Given the description of an element on the screen output the (x, y) to click on. 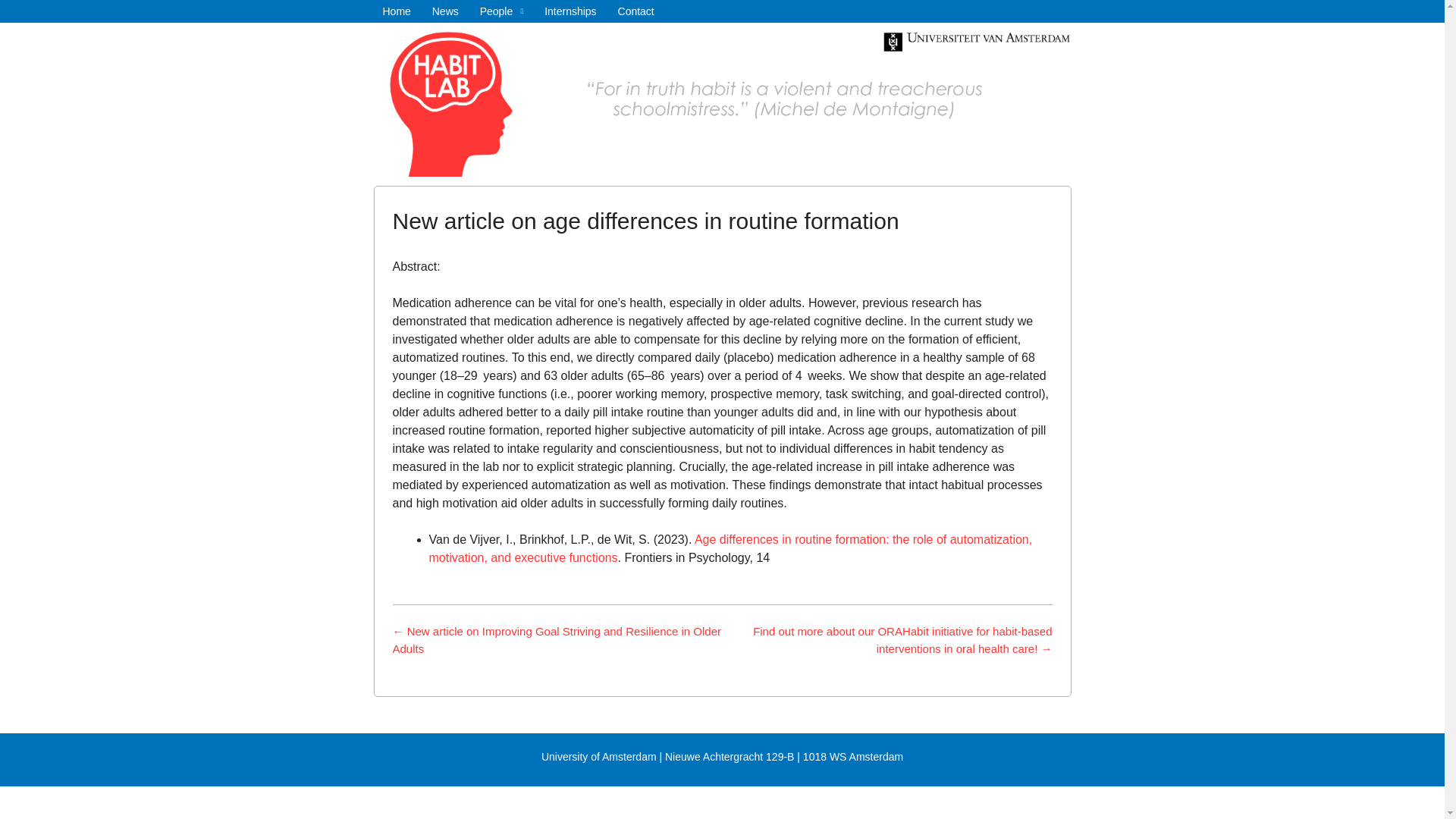
Contact (635, 11)
Internships (570, 11)
Home (395, 11)
People (501, 11)
News (445, 11)
